Given the description of an element on the screen output the (x, y) to click on. 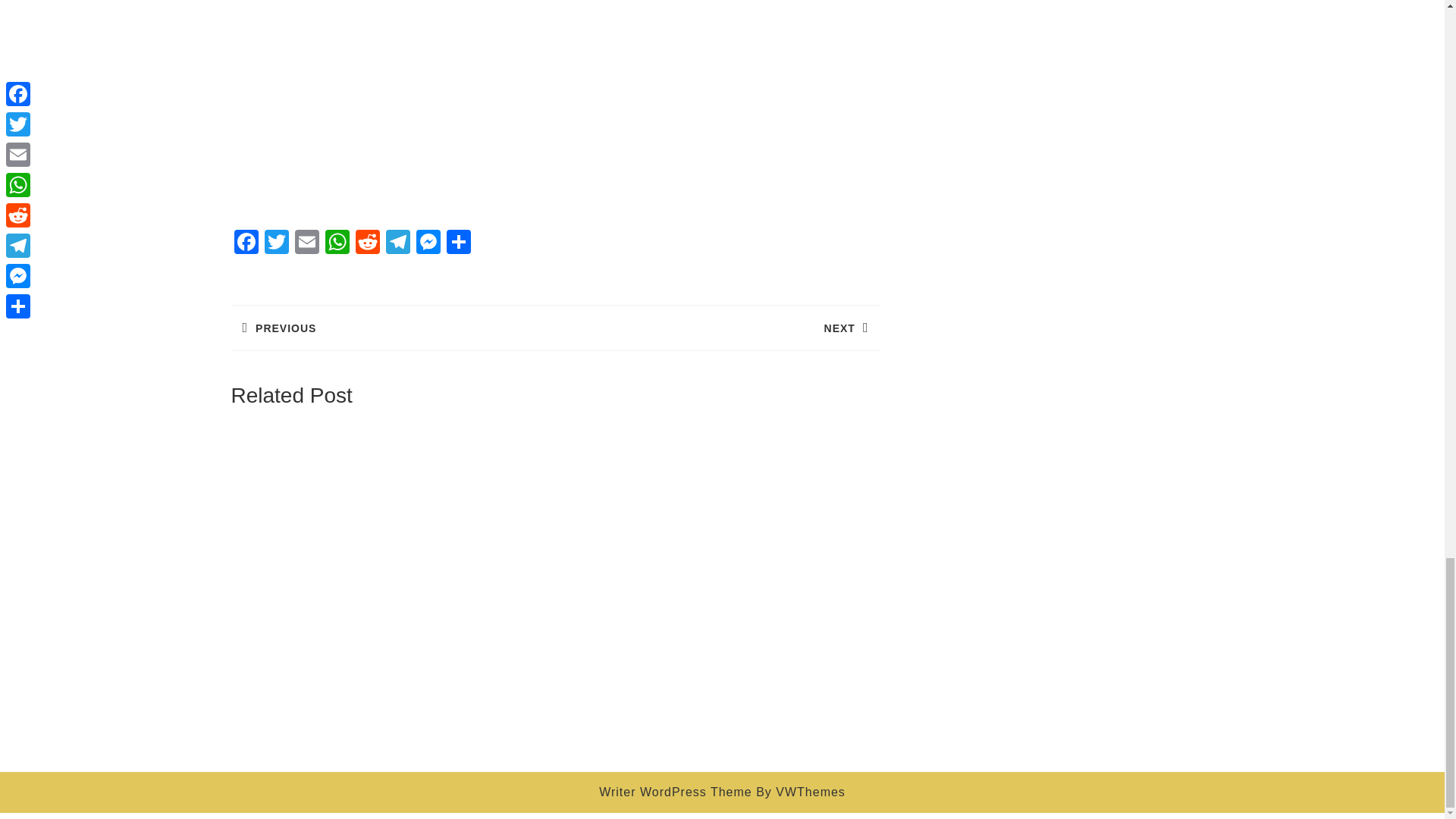
Email (306, 243)
WhatsApp (336, 243)
Messenger (427, 243)
Email (306, 243)
WhatsApp (336, 243)
Facebook (245, 243)
Twitter (275, 243)
Messenger (427, 243)
Telegram (396, 243)
Reddit (716, 327)
Telegram (366, 243)
Reddit (396, 243)
